Given the description of an element on the screen output the (x, y) to click on. 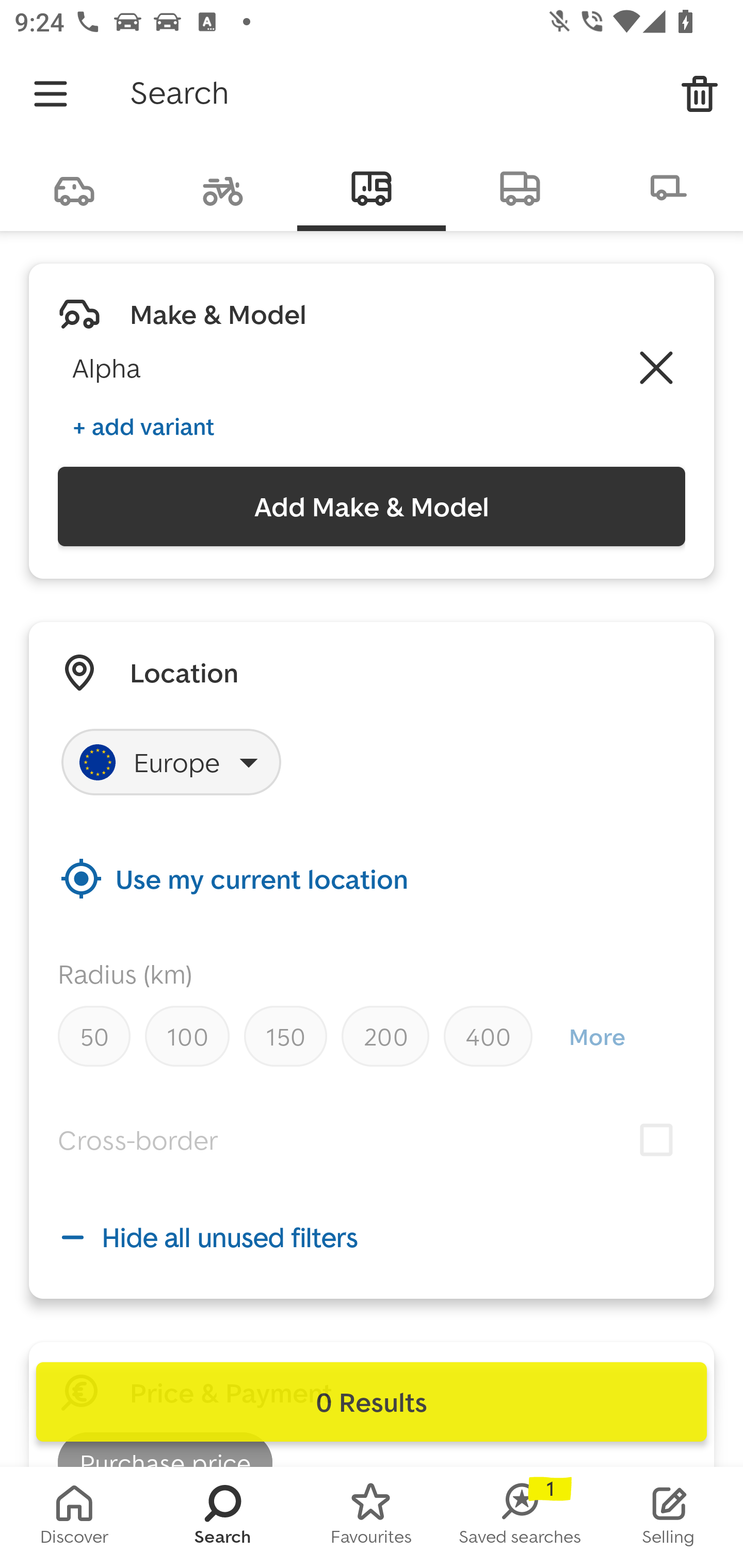
Navigate up (50, 93)
New search (699, 93)
CAR_SEARCH (74, 187)
BIKE_SEARCH (222, 187)
TRUCKS_SEARCH (519, 187)
TRAILERS_SEARCH (668, 187)
Make & Model (218, 314)
+ add variant (143, 426)
Add Make & Model (371, 506)
Location (184, 672)
Europe (170, 761)
Use my current location (371, 877)
Radius (km) (124, 973)
50 (93, 1035)
100 (186, 1035)
150 (284, 1035)
200 (385, 1035)
400 (487, 1035)
More (596, 1036)
Hide all unused filters (371, 1236)
0 Results (371, 1401)
HOMESCREEN Discover (74, 1517)
SEARCH Search (222, 1517)
FAVORITES Favourites (371, 1517)
SAVED_SEARCHES Saved searches 1 (519, 1517)
STOCK_LIST Selling (668, 1517)
